Given the description of an element on the screen output the (x, y) to click on. 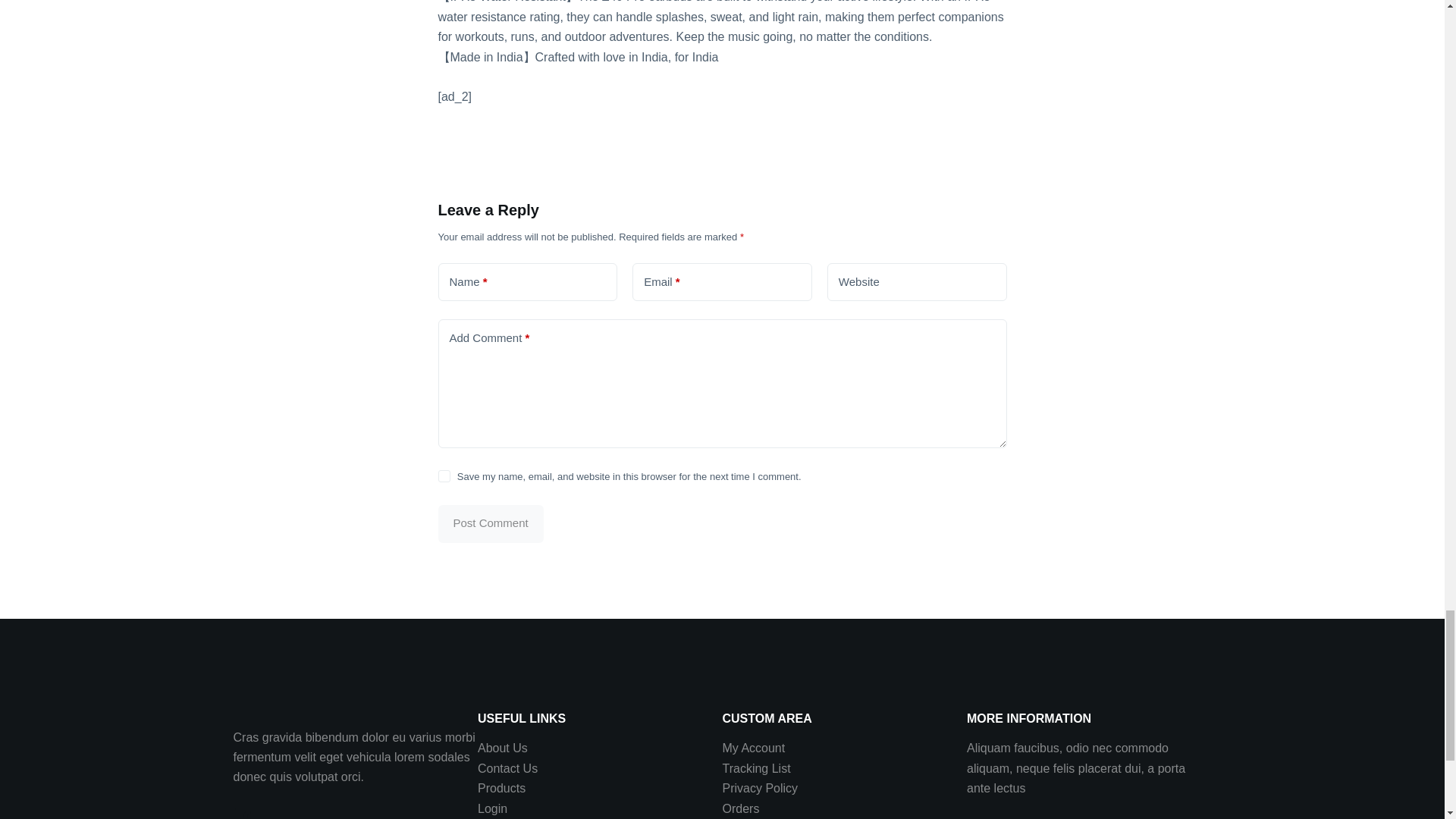
yes (443, 476)
